Given the description of an element on the screen output the (x, y) to click on. 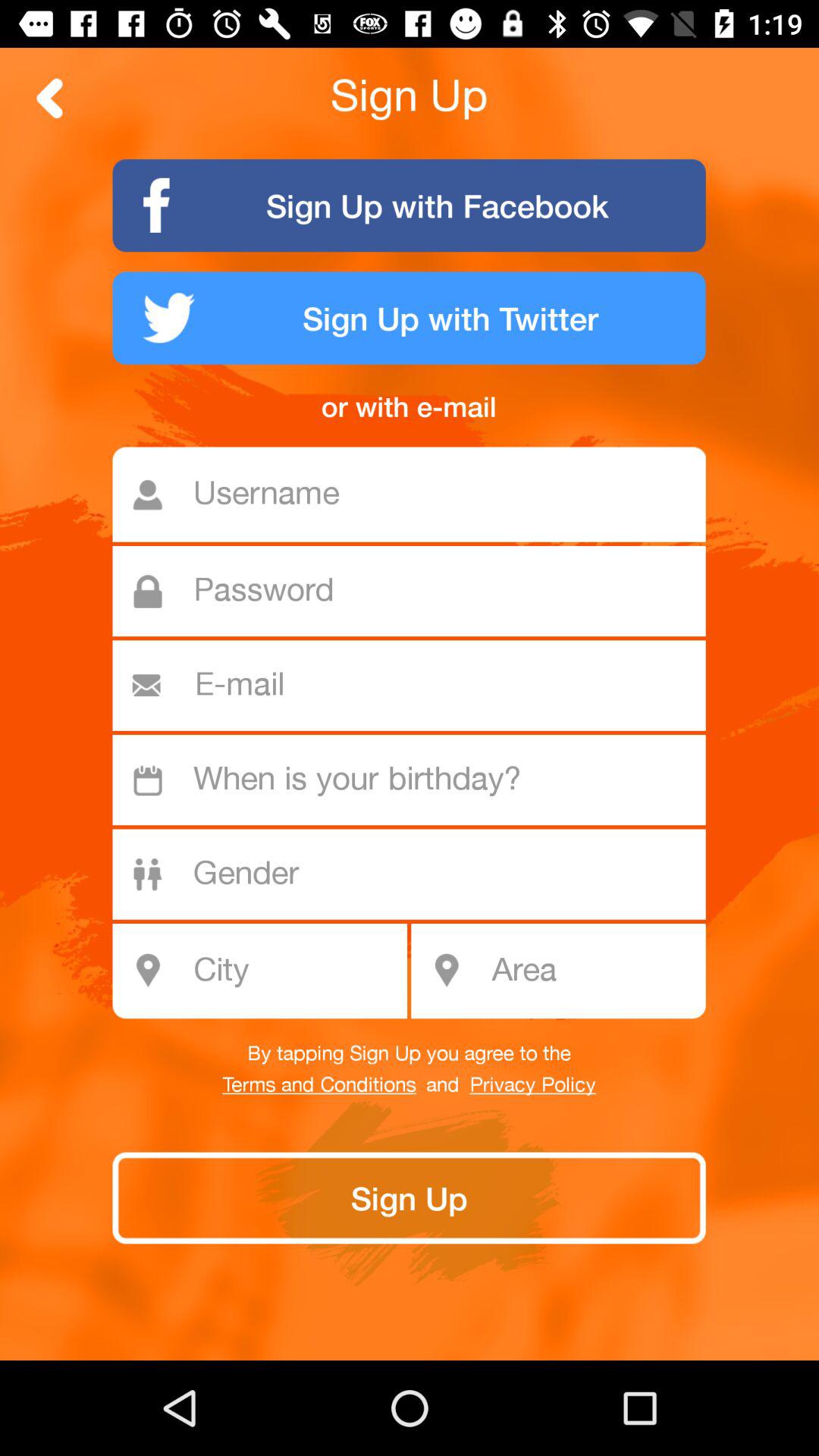
tap terms and conditions icon (319, 1085)
